Given the description of an element on the screen output the (x, y) to click on. 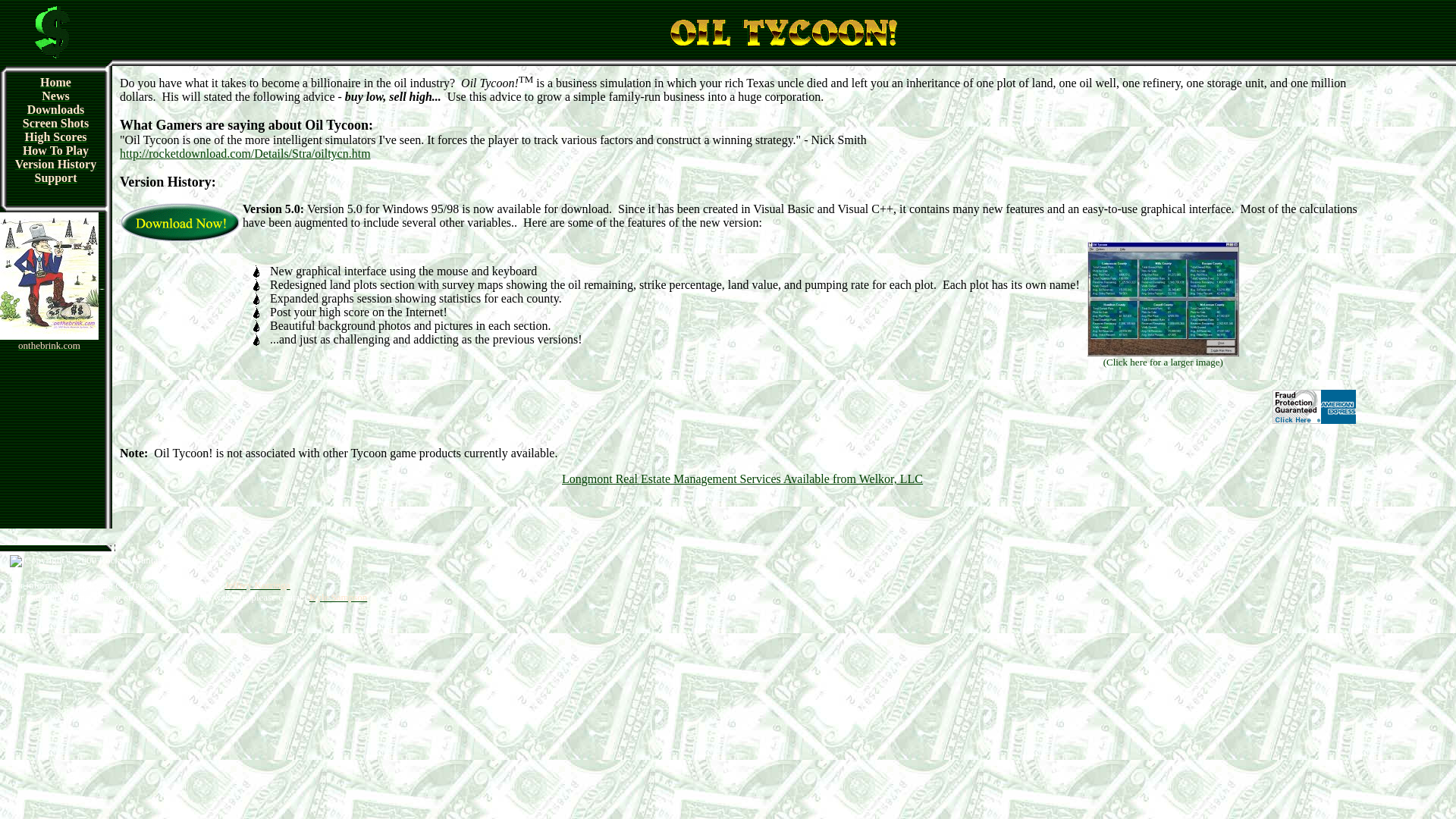
Support (55, 177)
Kyle Sampson (337, 596)
News (55, 95)
How To Play (55, 150)
High Scores (55, 136)
Home (55, 82)
Version History (55, 164)
Screen Shots (55, 123)
onthebrink.com (48, 344)
Downloads (55, 109)
Jeffrey Korringa (257, 584)
